Given the description of an element on the screen output the (x, y) to click on. 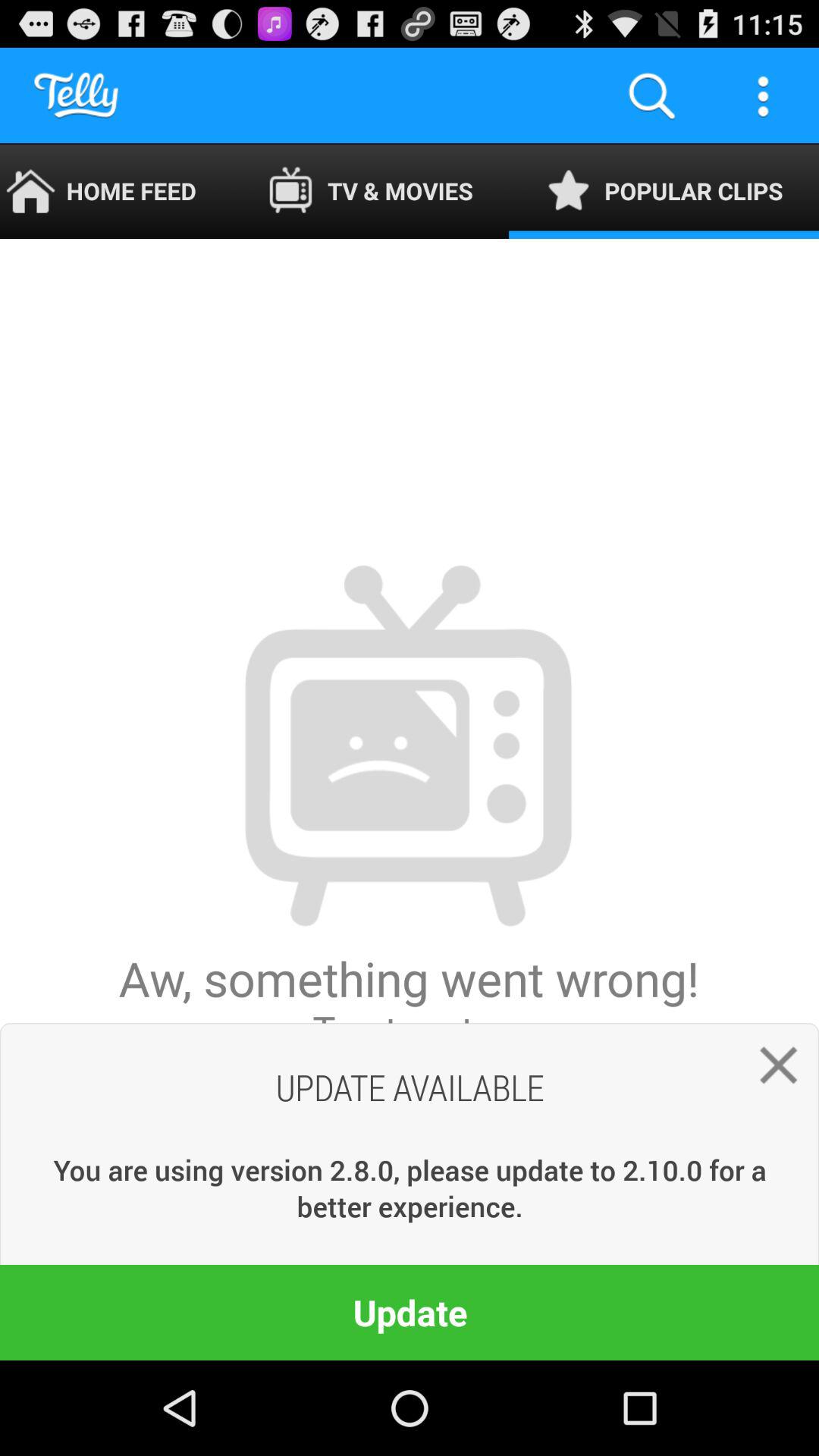
tap the item above the you are using item (409, 799)
